Given the description of an element on the screen output the (x, y) to click on. 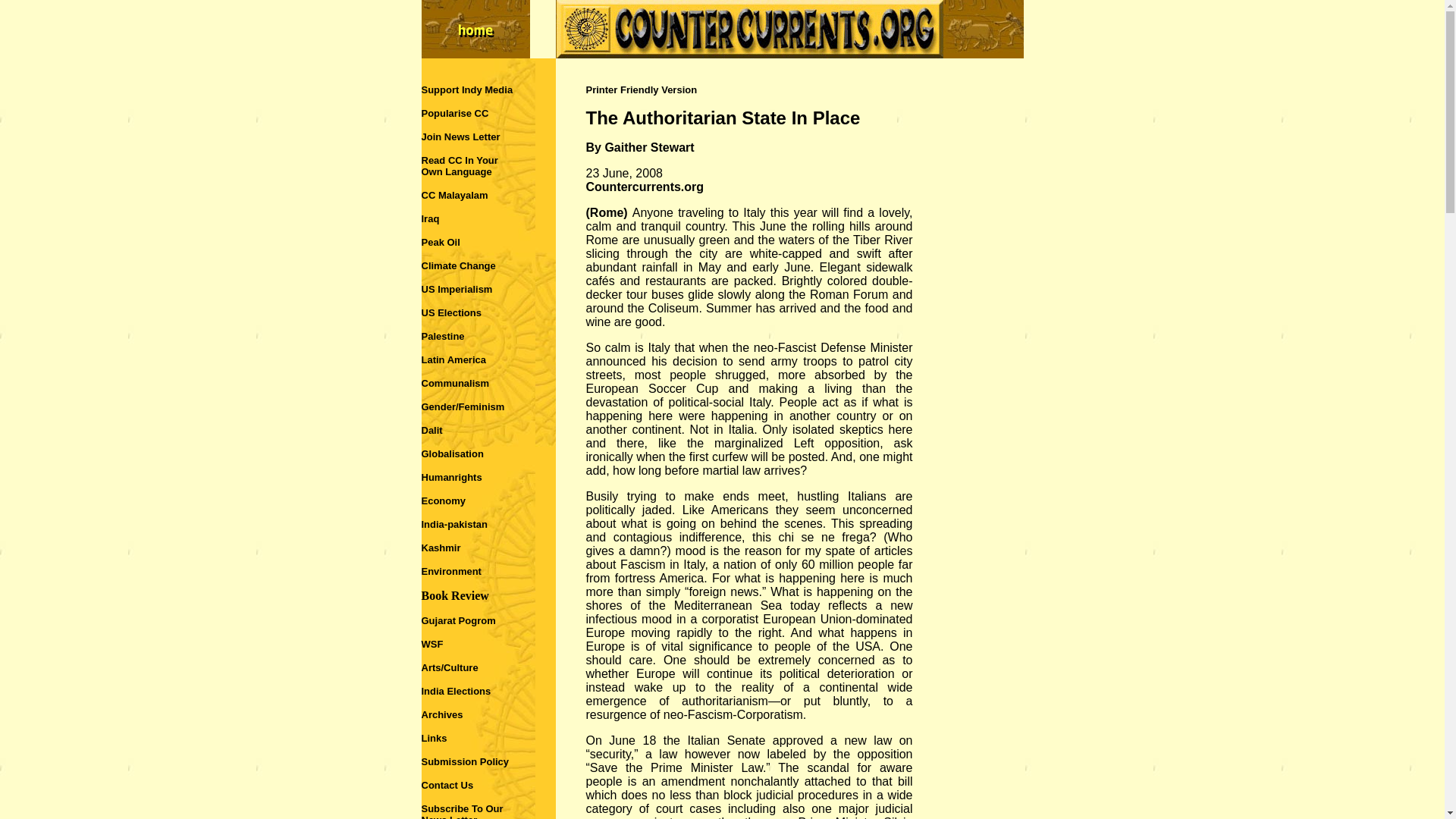
Gujarat Pogrom (459, 619)
Iraq (430, 218)
Contact Us (448, 784)
Book Review (455, 594)
Communalism (455, 383)
Climate Change (459, 265)
India-pakistan (454, 523)
US Imperialism (457, 288)
Popularise CC (455, 112)
Support Indy (451, 89)
